Given the description of an element on the screen output the (x, y) to click on. 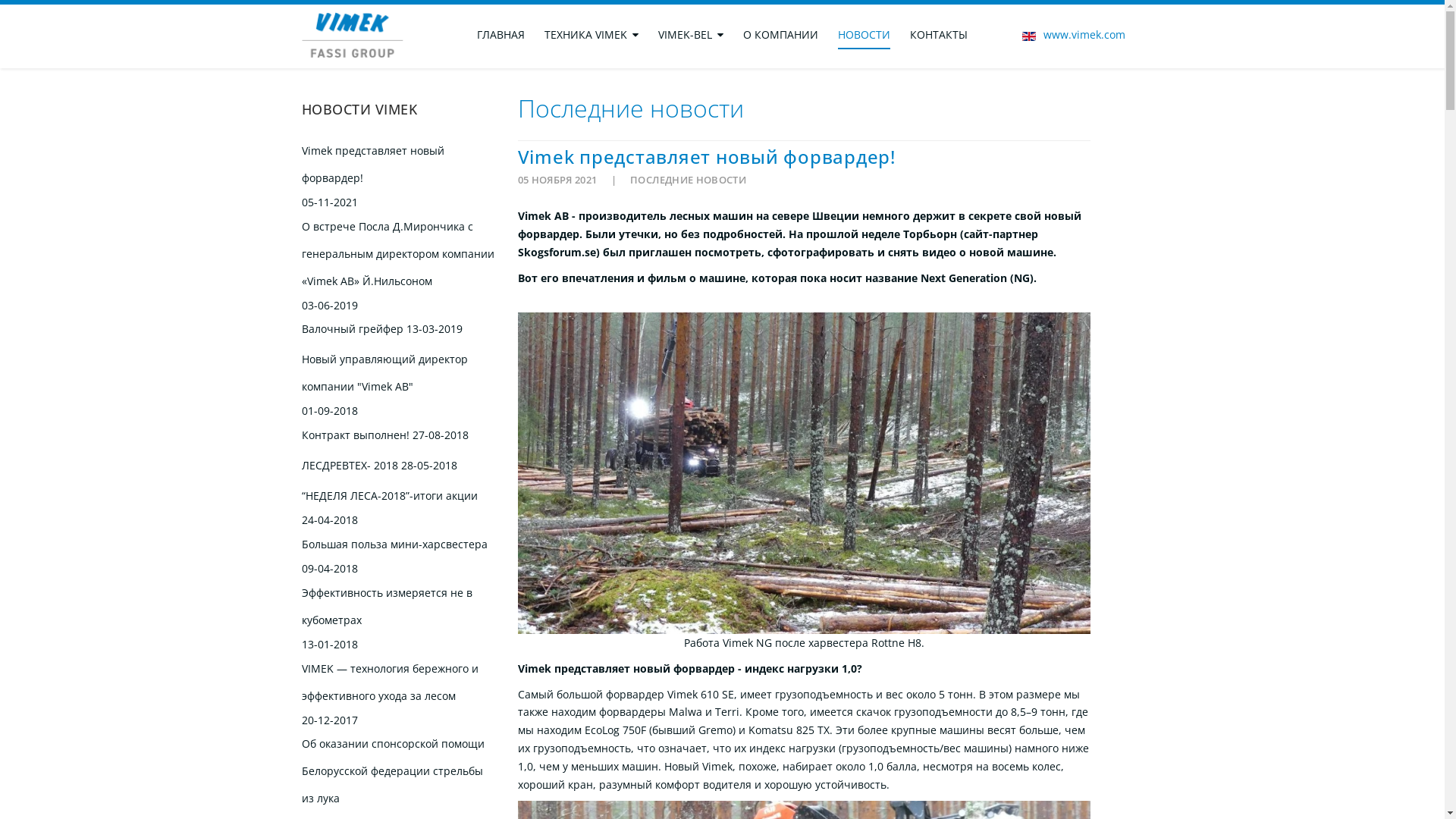
VIMEK-BEL Element type: text (690, 34)
www.vimek.com Element type: text (1084, 34)
